Given the description of an element on the screen output the (x, y) to click on. 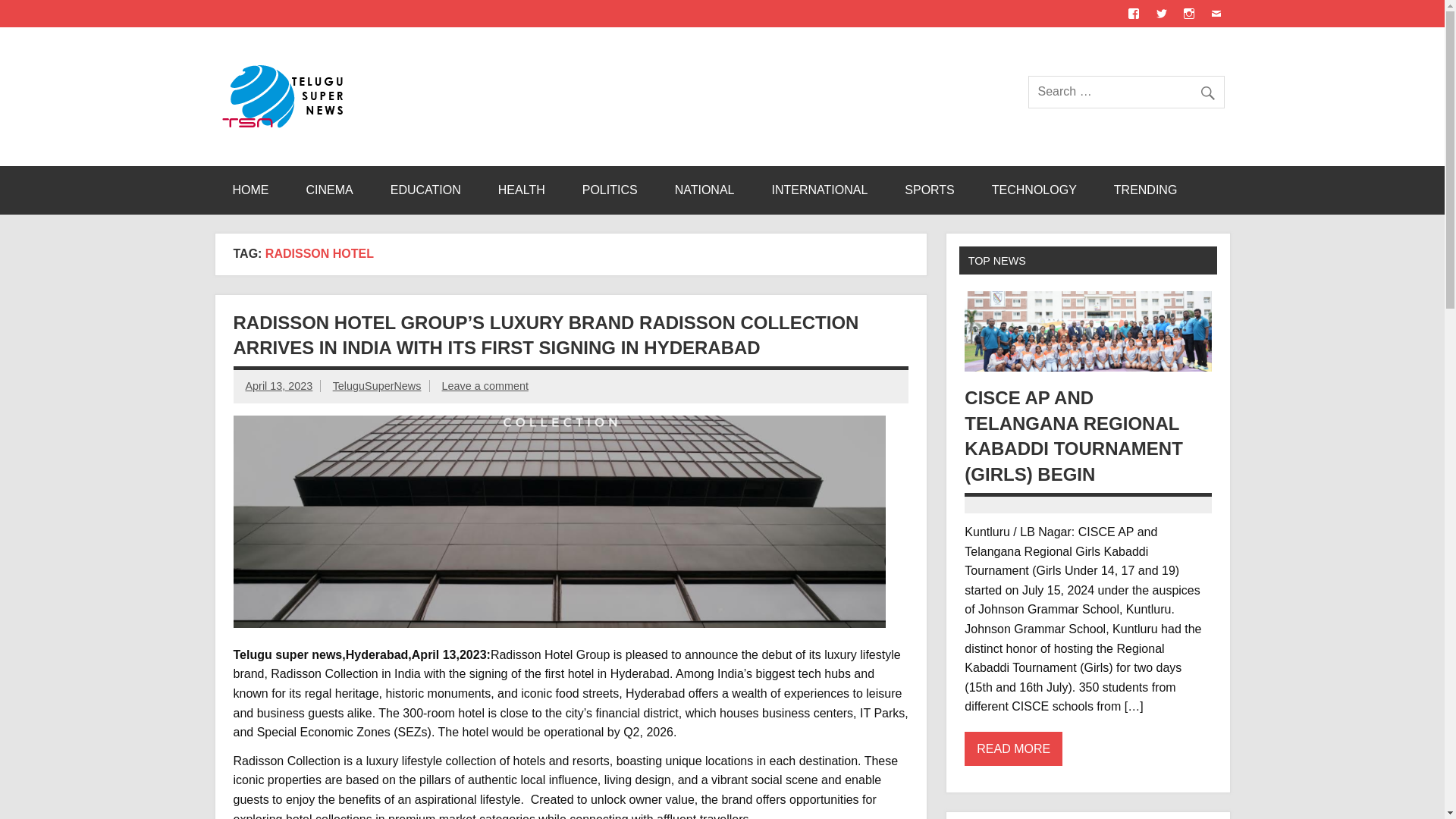
CINEMA (329, 190)
TeluguSuperNews (377, 386)
TRENDING (1145, 190)
April 13, 2023 (279, 386)
INTERNATIONAL (818, 190)
9:26 am (279, 386)
View all posts by TeluguSuperNews (377, 386)
NATIONAL (704, 190)
POLITICS (610, 190)
TECHNOLOGY (1034, 190)
HOME (250, 190)
EDUCATION (425, 190)
READ MORE (1012, 748)
HEALTH (521, 190)
Leave a comment (484, 386)
